Given the description of an element on the screen output the (x, y) to click on. 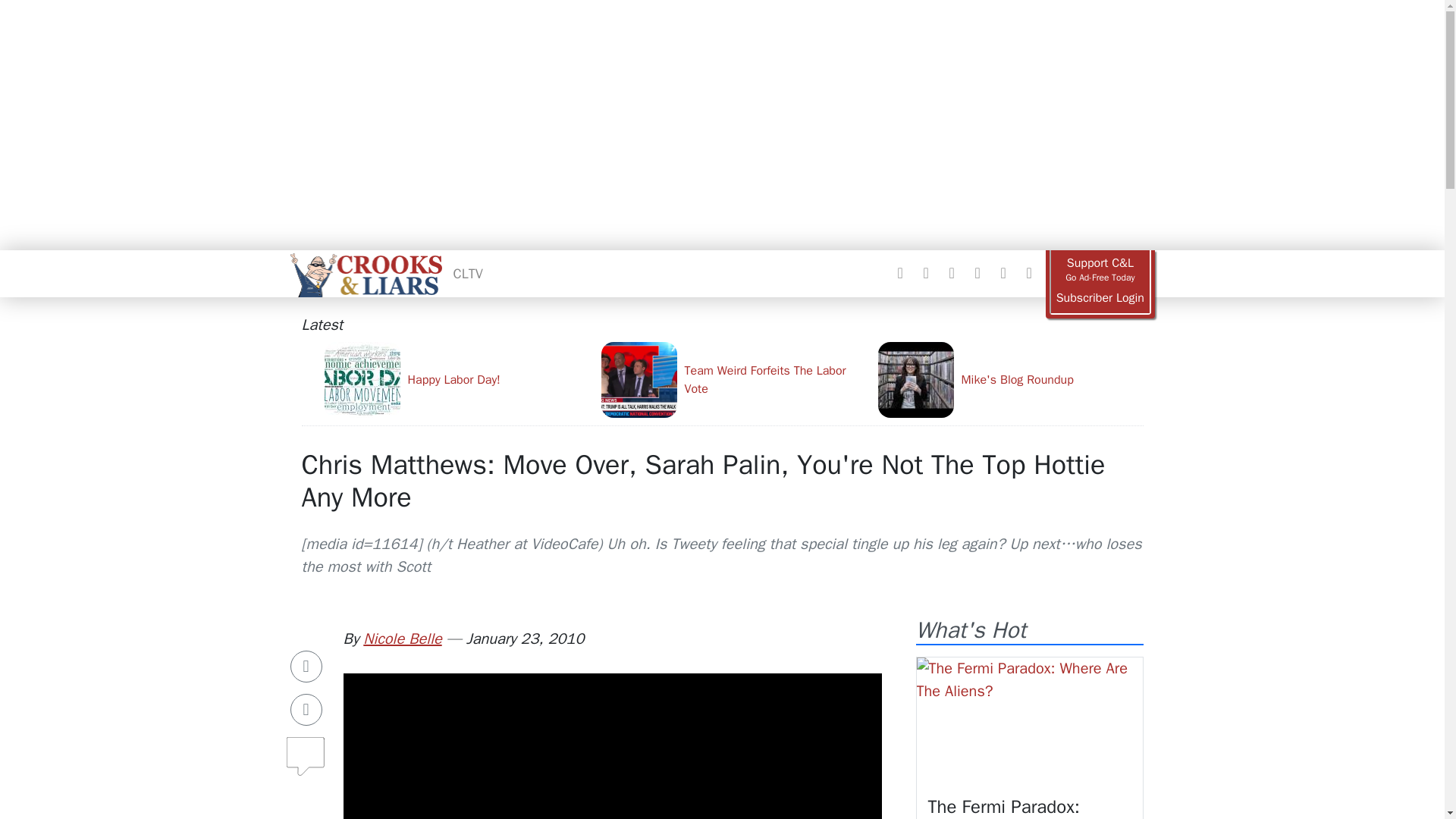
Mike's Blog Roundup (1009, 379)
Share on Twitter (306, 709)
Happy Labor Day! (456, 379)
CLTV (467, 273)
Happy Labor Day! (456, 379)
Team Weird Forfeits The Labor Vote (732, 379)
Go ad free today! (1099, 270)
Subscriber Login (1099, 298)
Nicole Belle (401, 638)
Login to your ad free account (1099, 298)
